Given the description of an element on the screen output the (x, y) to click on. 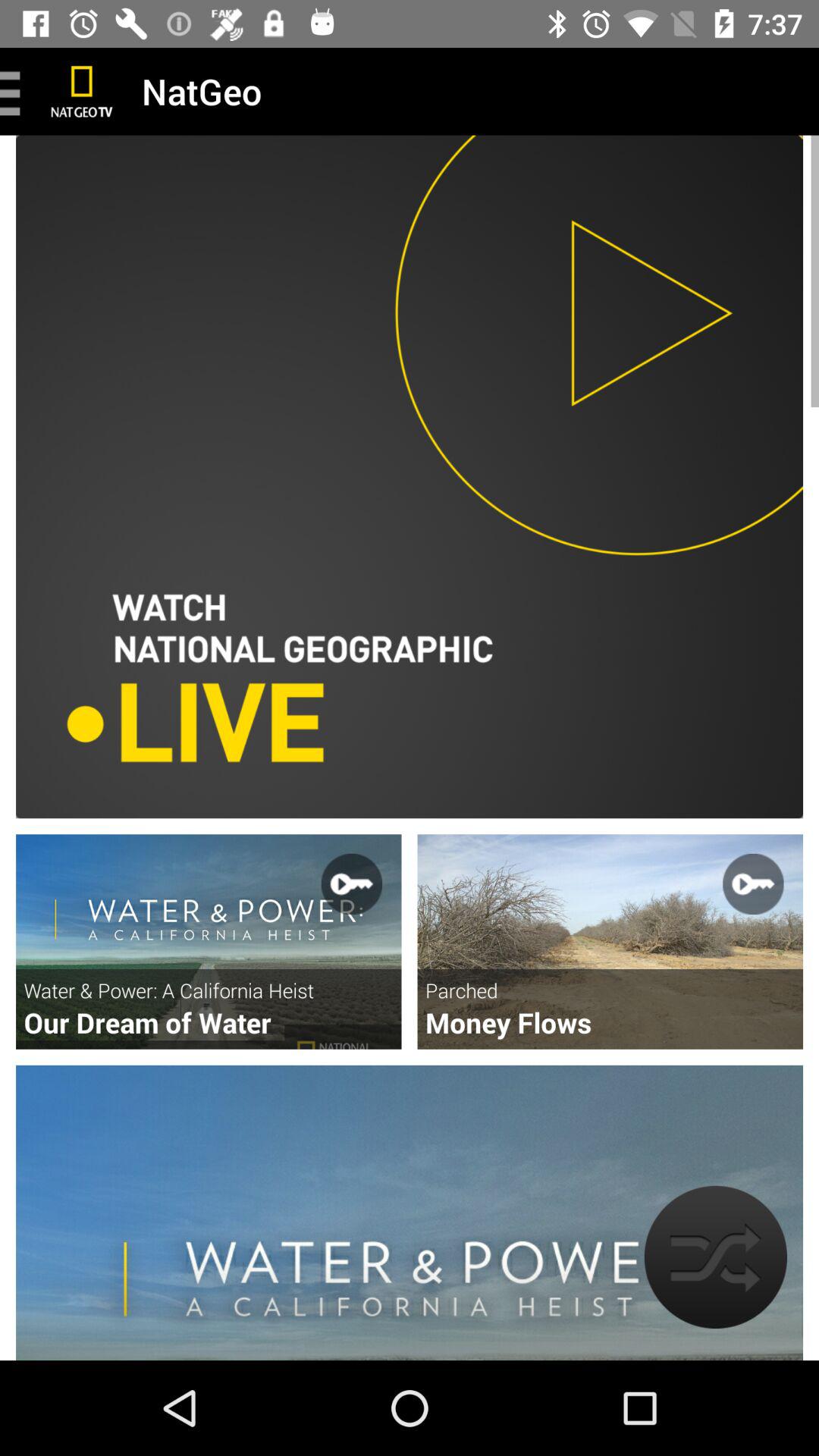
watch video (610, 941)
